Given the description of an element on the screen output the (x, y) to click on. 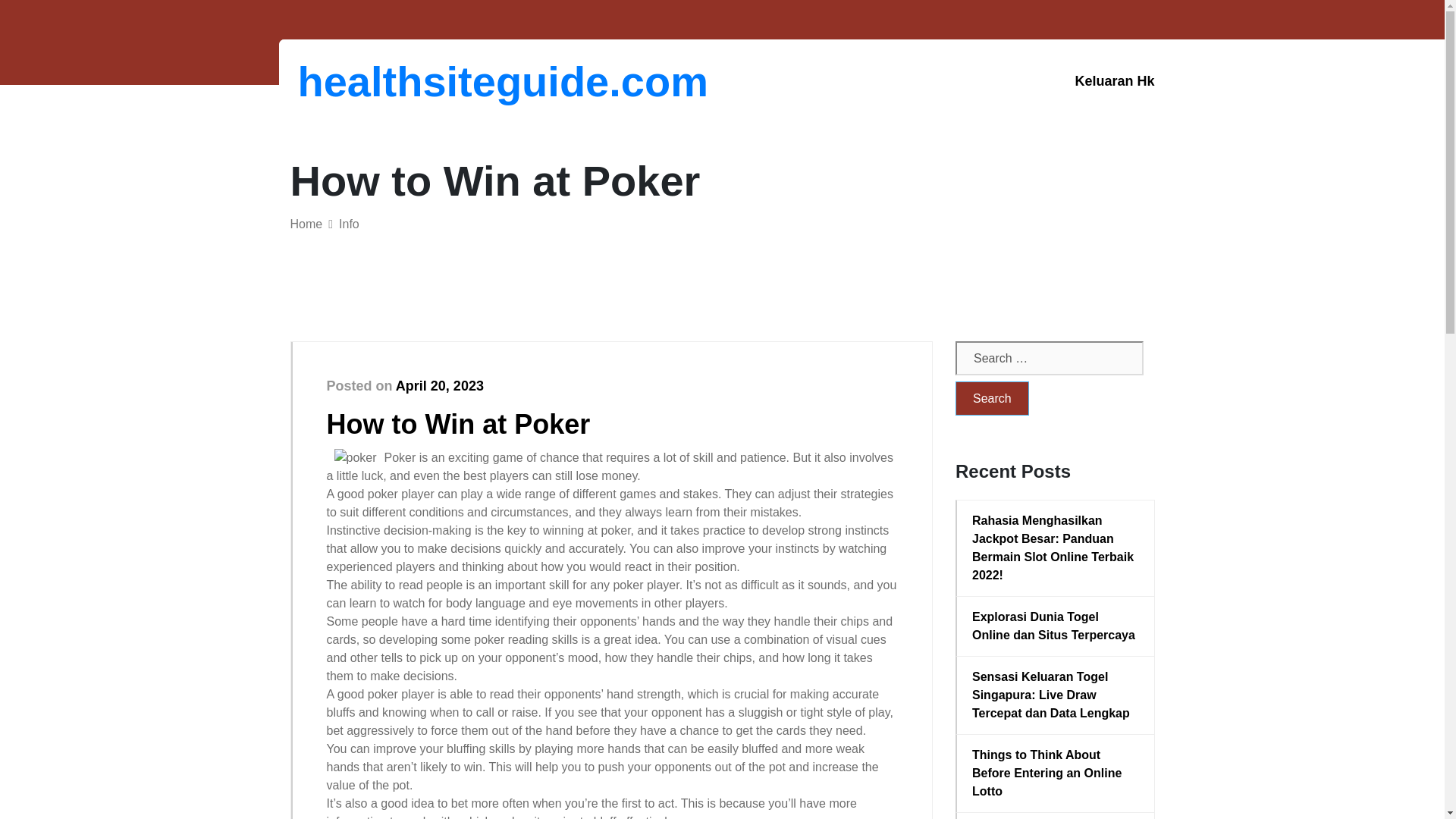
Info (349, 223)
Explorasi Dunia Togel Online dan Situs Terpercaya (1055, 626)
Things to Think About Before Entering an Online Lotto (1055, 773)
Search (992, 398)
Home (305, 223)
Search (992, 398)
healthsiteguide.com (376, 81)
April 20, 2023 (439, 385)
Keluaran Hk (1114, 81)
Keluaran Hk (1114, 81)
Search (992, 398)
How to Win at Poker (457, 423)
